Given the description of an element on the screen output the (x, y) to click on. 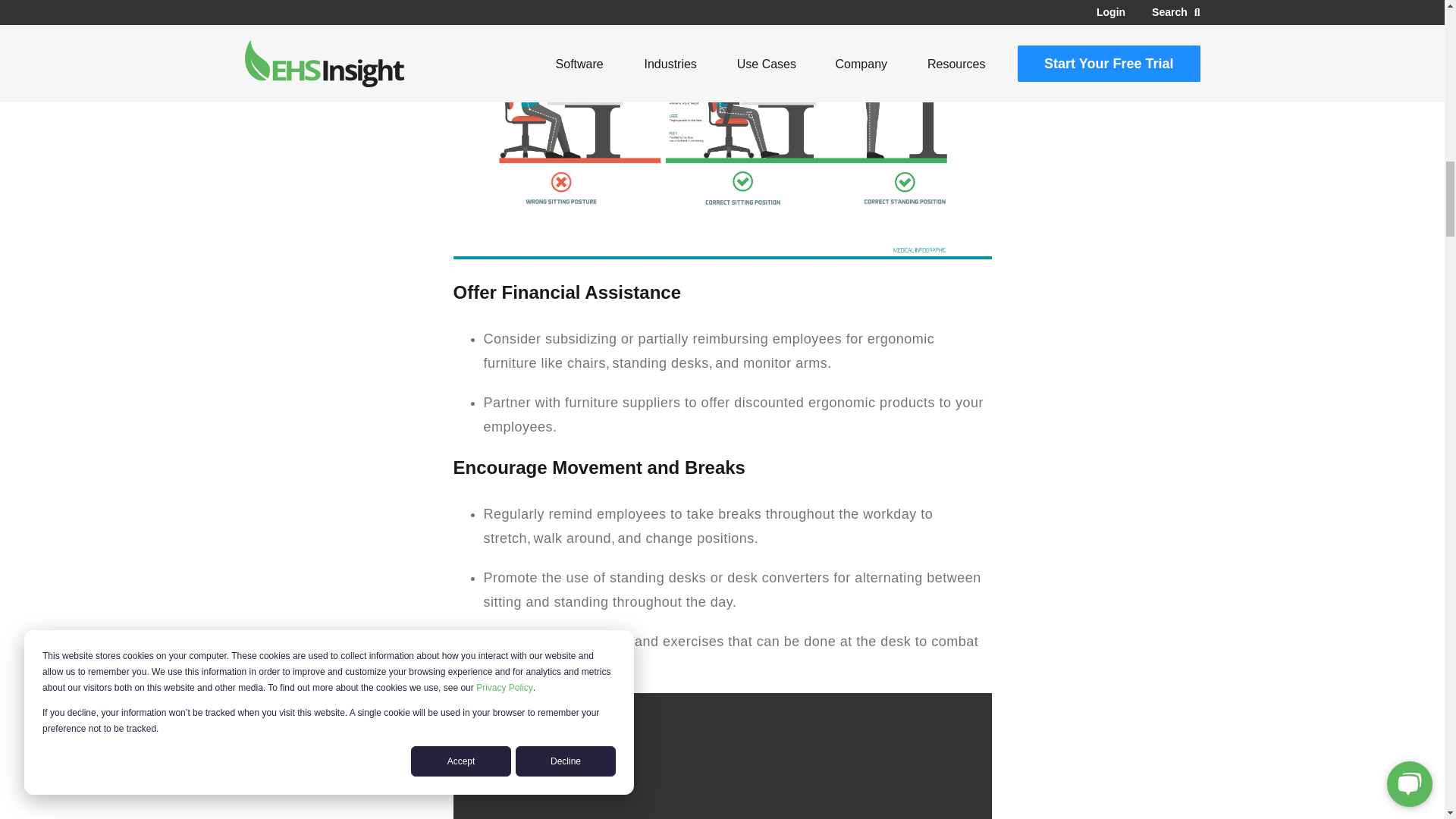
HubSpot Video (721, 755)
